Given the description of an element on the screen output the (x, y) to click on. 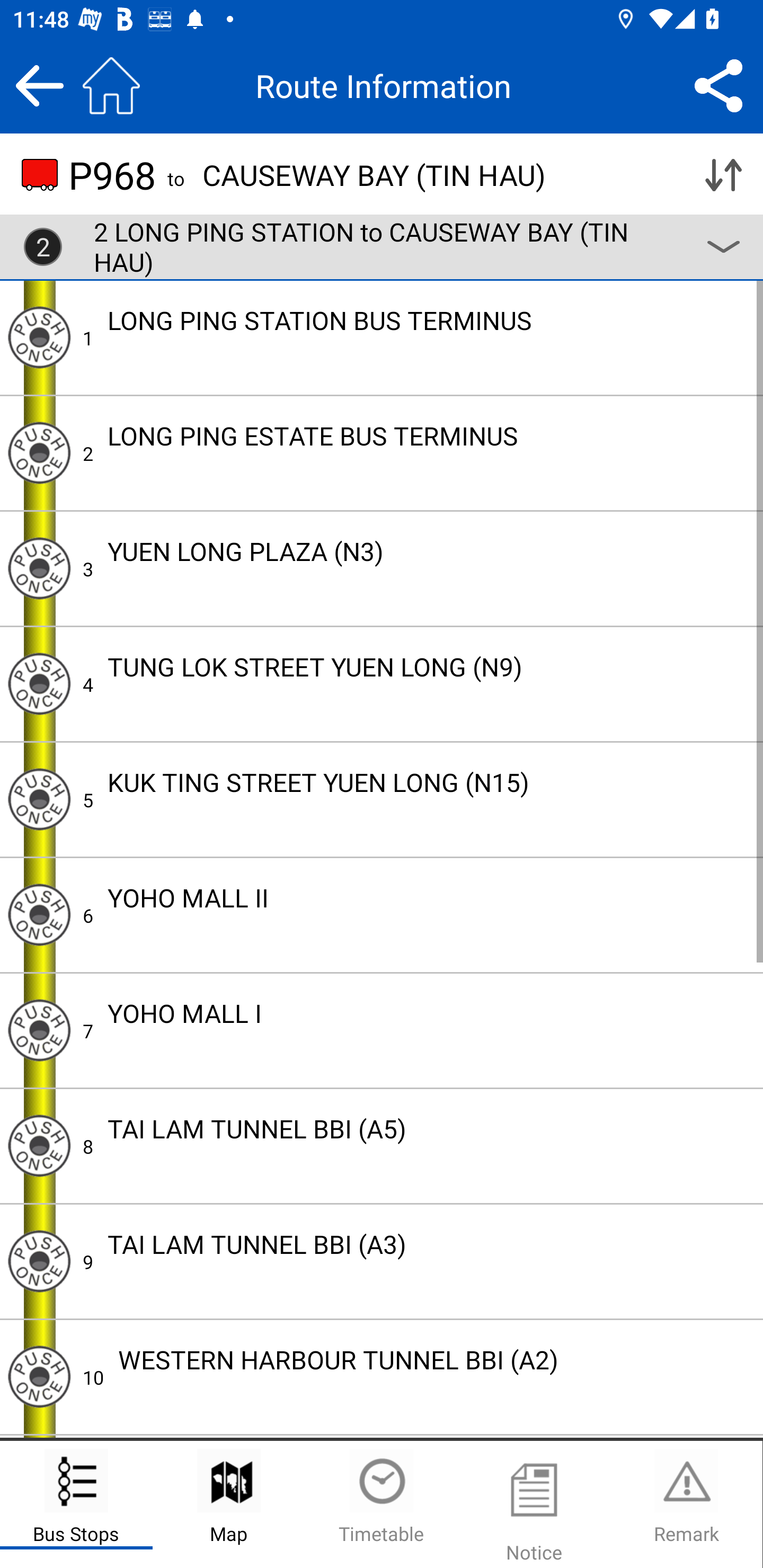
Jump to home page (111, 85)
Share point to point route search criteria) (718, 85)
Back (39, 85)
Reverse direction (723, 174)
Other routes (723, 246)
Alight Reminder (39, 337)
Alight Reminder (39, 452)
Alight Reminder (39, 568)
Alight Reminder (39, 683)
Alight Reminder (39, 798)
Alight Reminder (39, 914)
Alight Reminder (39, 1029)
Alight Reminder (39, 1145)
Alight Reminder (39, 1261)
Alight Reminder (39, 1376)
Bus Stops (76, 1504)
Map (228, 1504)
Timetable (381, 1504)
Notice (533, 1504)
Remark (686, 1504)
